Given the description of an element on the screen output the (x, y) to click on. 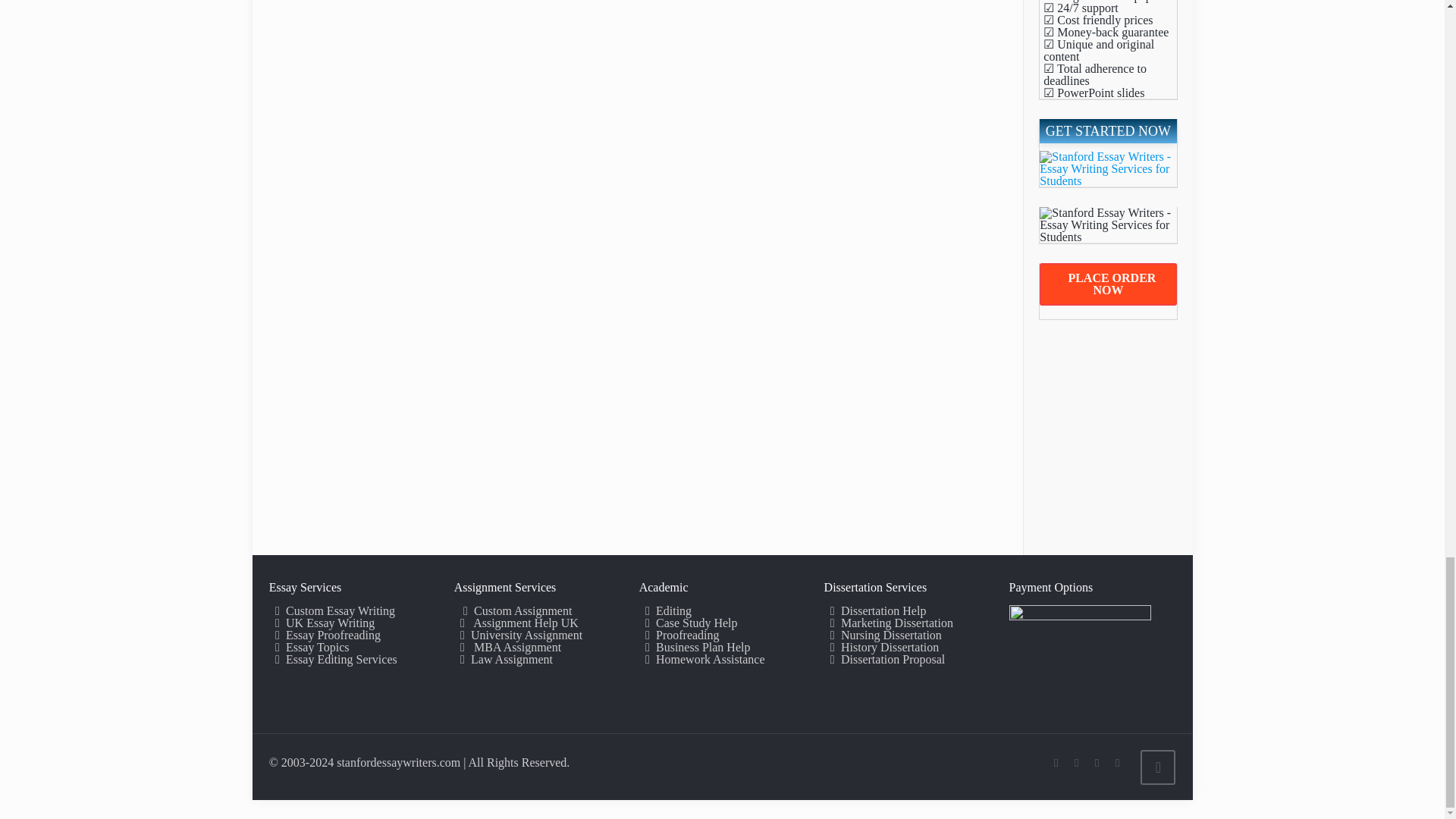
WhatsApp (1056, 762)
Instagram (1117, 762)
Twitter (1097, 762)
Facebook (1076, 762)
